Given the description of an element on the screen output the (x, y) to click on. 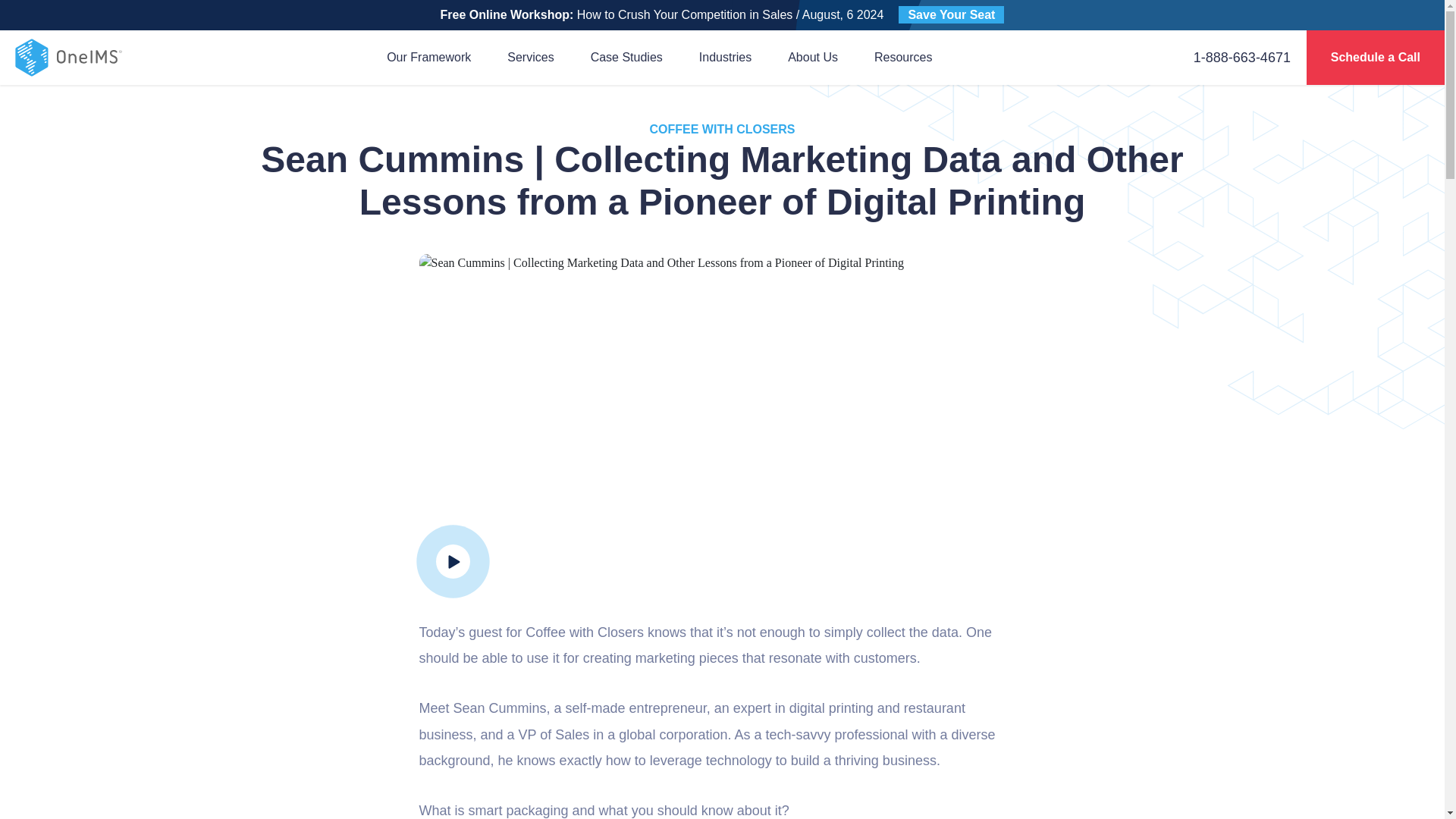
Save Your Seat (951, 14)
Our Framework (428, 56)
Services (529, 56)
